Given the description of an element on the screen output the (x, y) to click on. 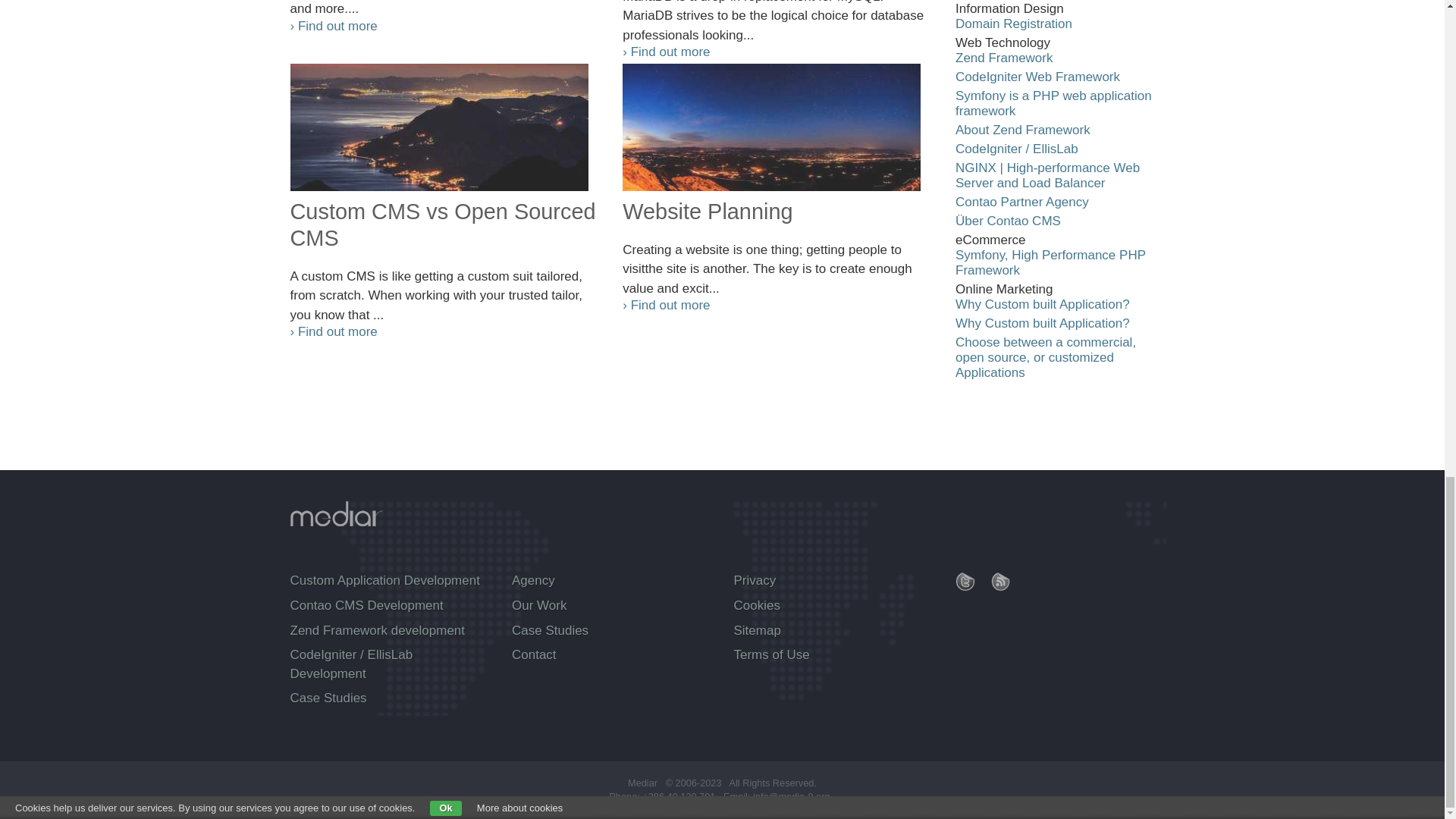
Find out more about Custom CMS vs Open Sourced CMS (444, 126)
Learn more on Custom CMS vs Open Sourced CMS (444, 228)
Find out more about Custom CMS vs Open Sourced CMS (333, 331)
Find out more about Website Planning (666, 305)
Custom CMS vs Open Sourced CMS (444, 228)
Find out more about Website Planning (778, 126)
Find out more about Sass makes CSS fun again (333, 25)
Website Planning (778, 215)
Learn more on Website Planning (778, 215)
